Given the description of an element on the screen output the (x, y) to click on. 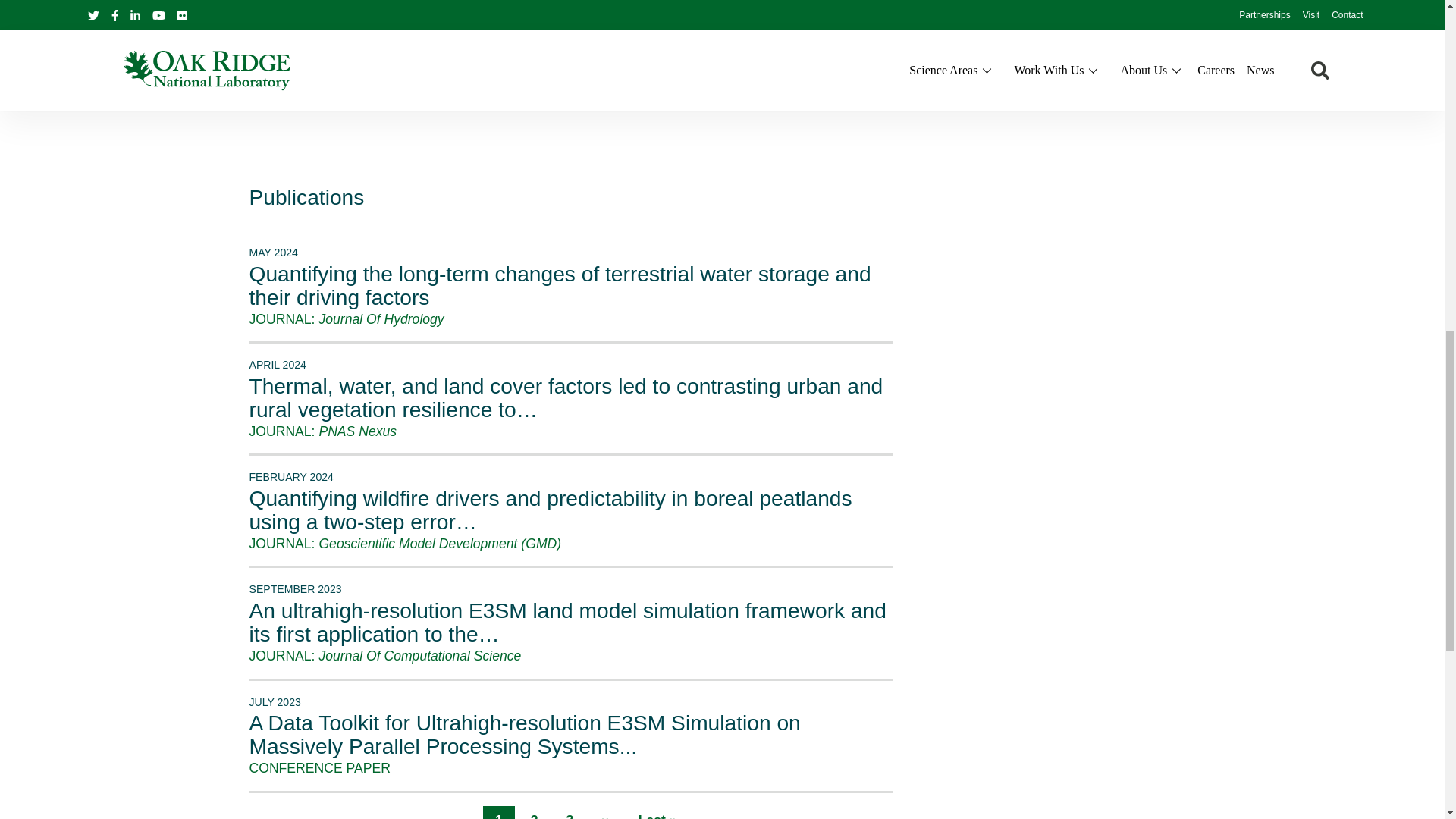
Go to page 3 (569, 813)
Go to next page (605, 813)
Go to last page (656, 813)
Go to page 2 (534, 813)
Current page (498, 813)
